Given the description of an element on the screen output the (x, y) to click on. 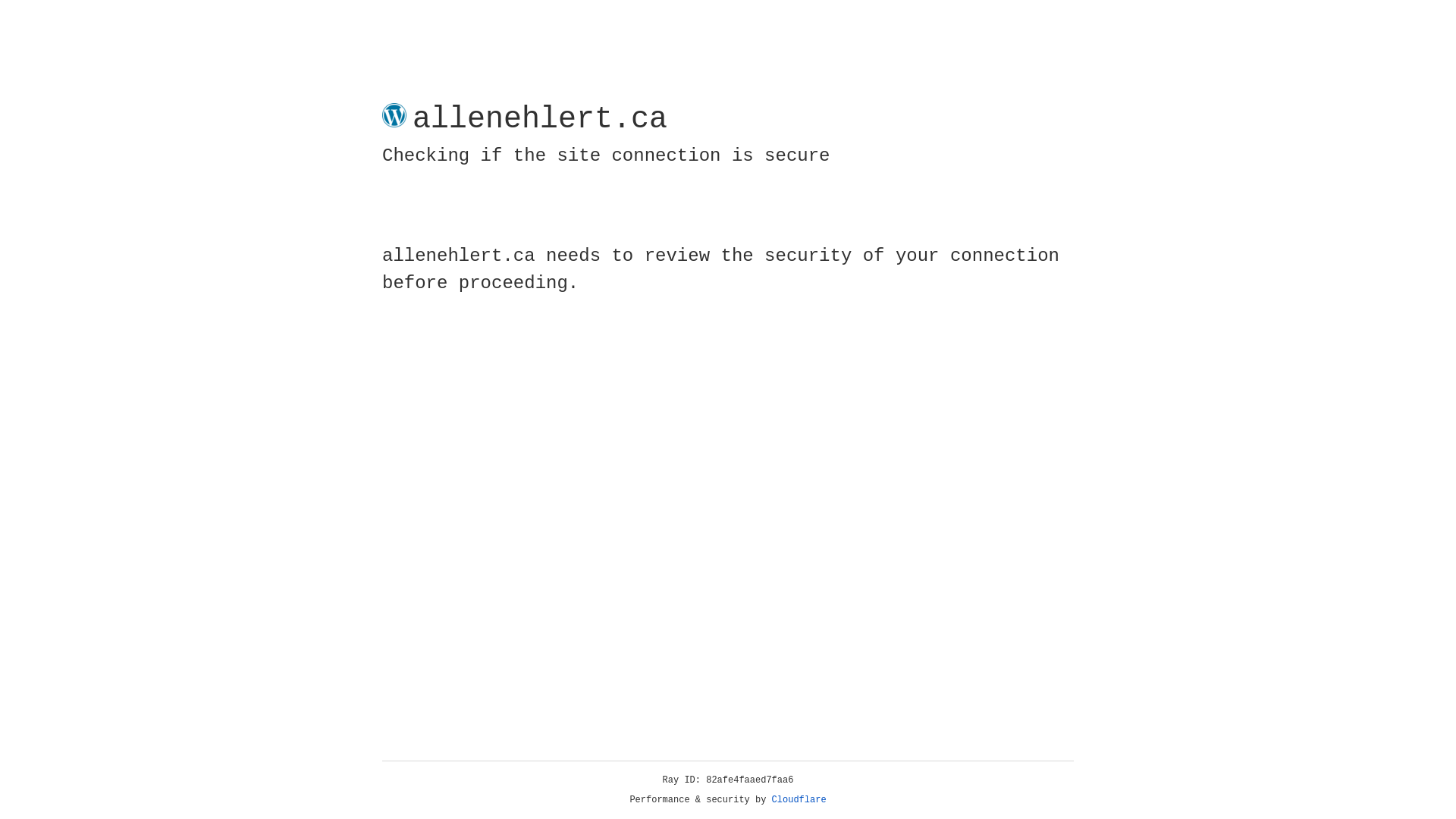
Cloudflare Element type: text (798, 799)
